Given the description of an element on the screen output the (x, y) to click on. 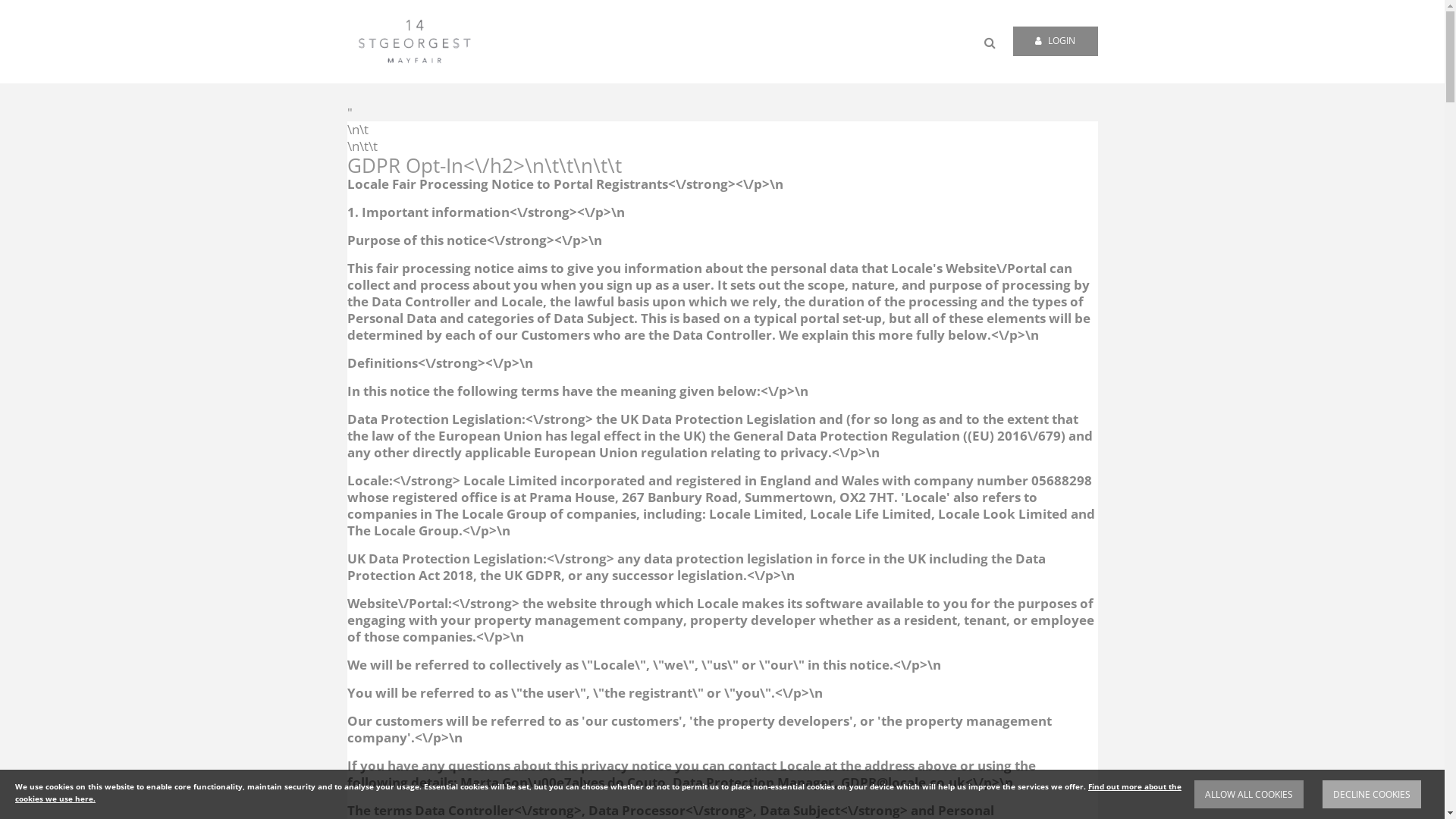
ALLOW ALL COOKIES Element type: text (1248, 794)
LOGIN Element type: text (1055, 41)
Find out more about the cookies we use here. Element type: text (598, 792)
14 St George Street Element type: hover (413, 41)
DECLINE COOKIES Element type: text (1371, 794)
